Given the description of an element on the screen output the (x, y) to click on. 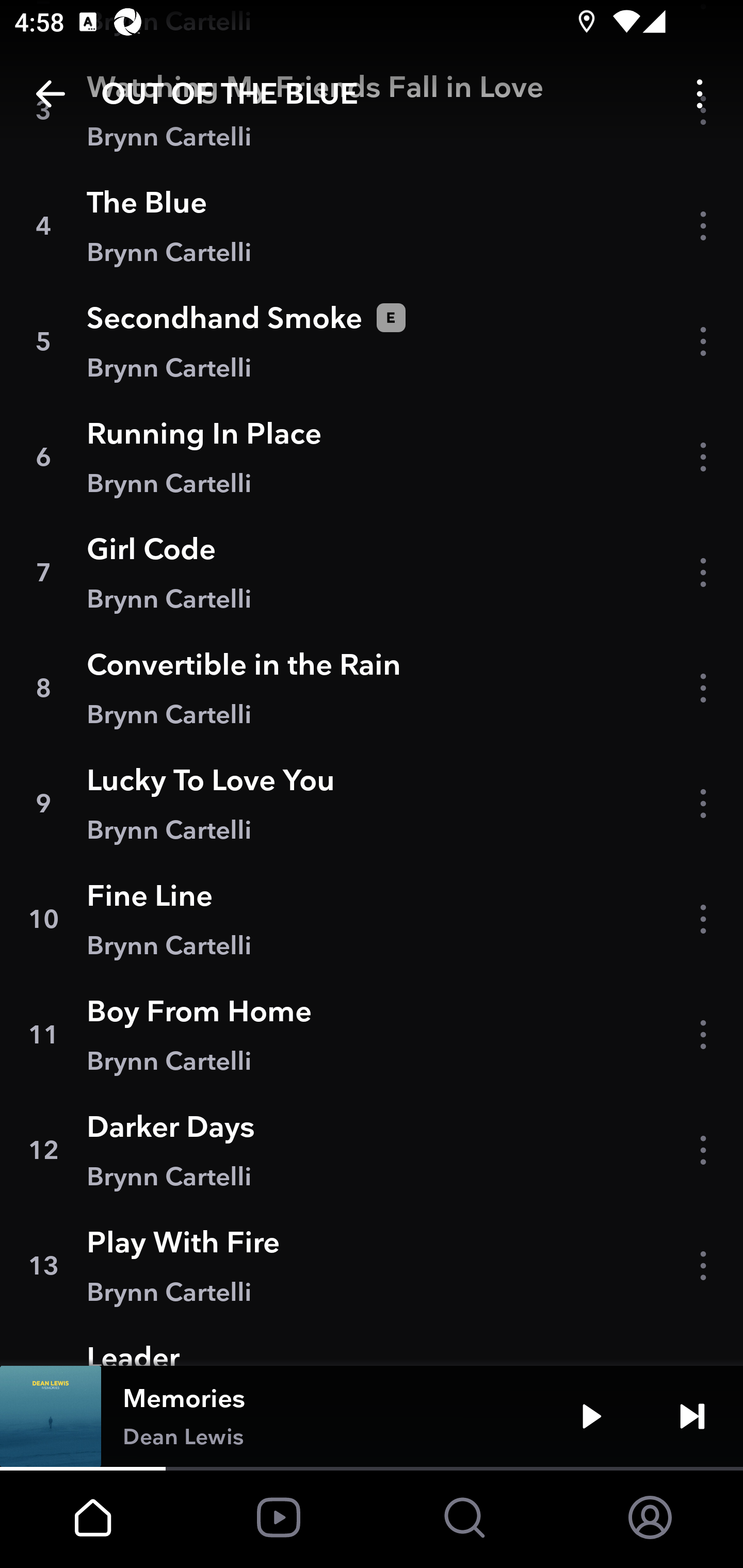
3 Watching My Friends Fall in Love Brynn Cartelli (371, 110)
4 The Blue Brynn Cartelli (371, 225)
5 Secondhand Smoke Brynn Cartelli (371, 341)
6 Running In Place Brynn Cartelli (371, 456)
7 Girl Code Brynn Cartelli (371, 572)
8 Convertible in the Rain Brynn Cartelli (371, 688)
9 Lucky To Love You Brynn Cartelli (371, 803)
10 Fine Line Brynn Cartelli (371, 918)
11 Boy From Home Brynn Cartelli (371, 1034)
12 Darker Days Brynn Cartelli (371, 1149)
13 Play With Fire Brynn Cartelli (371, 1265)
Memories Dean Lewis Play (371, 1416)
Play (590, 1416)
